Given the description of an element on the screen output the (x, y) to click on. 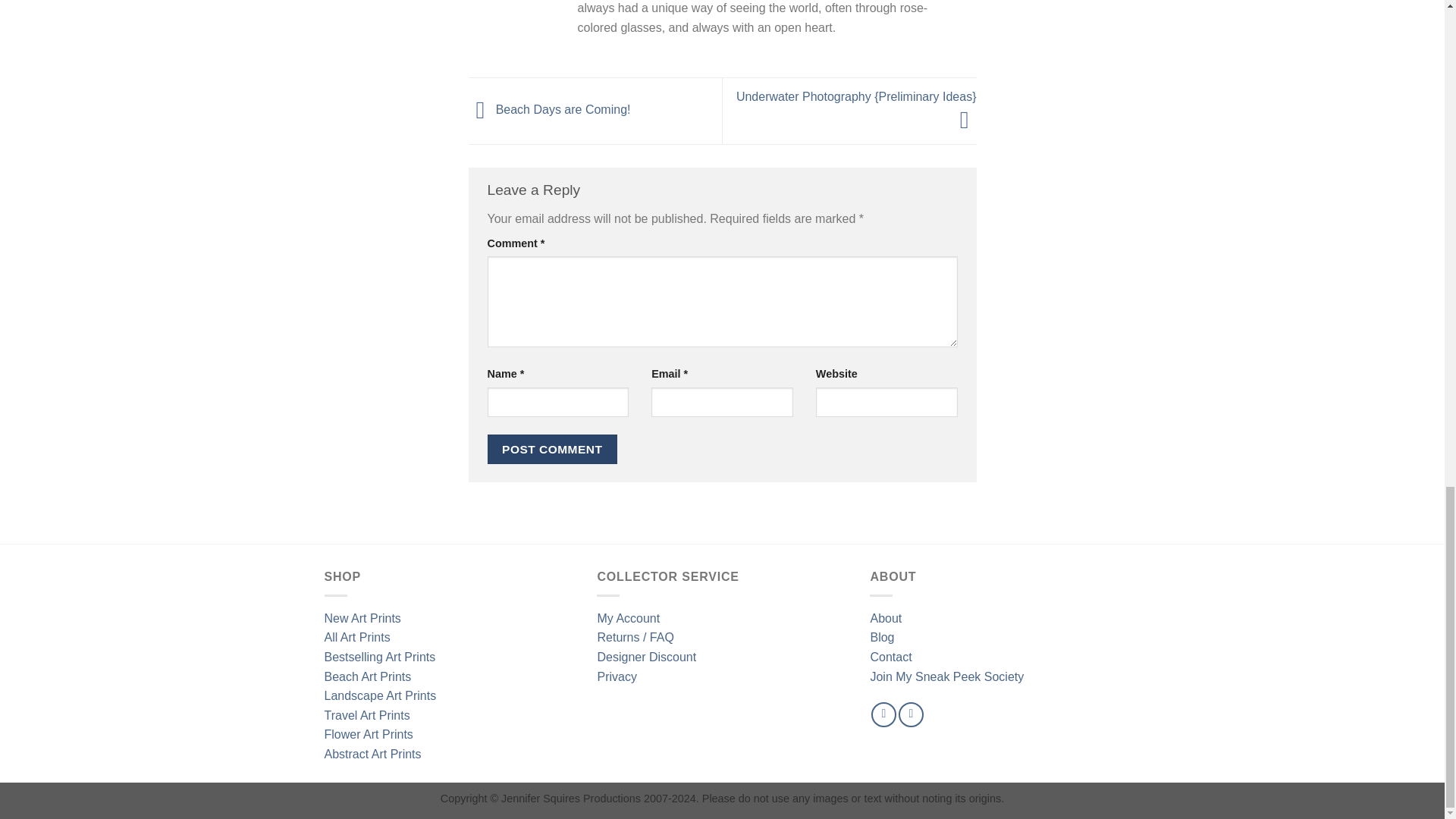
Post Comment (551, 449)
Follow on Instagram (910, 714)
Follow on Facebook (883, 714)
